Given the description of an element on the screen output the (x, y) to click on. 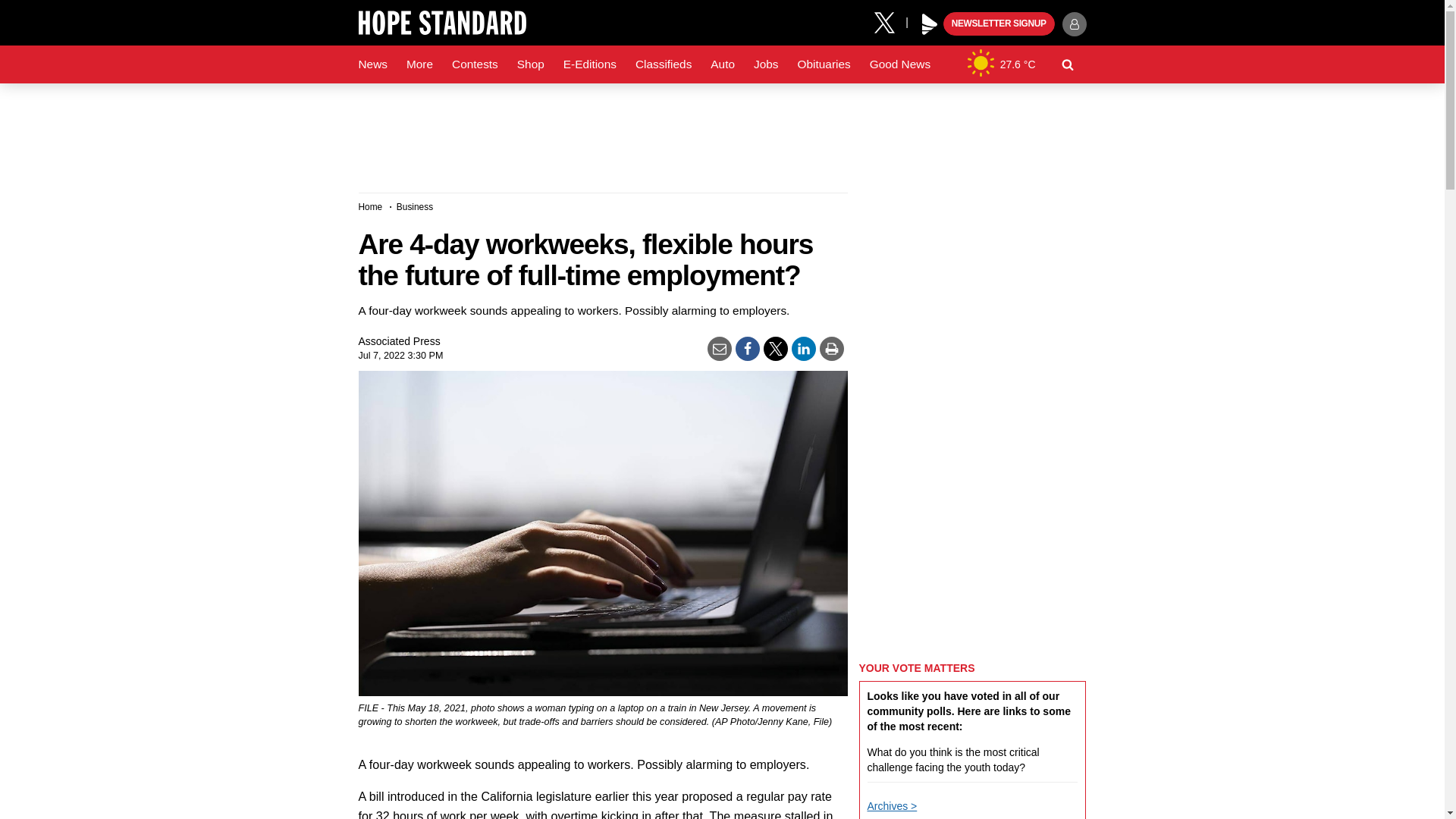
NEWSLETTER SIGNUP (998, 24)
Play (929, 24)
3rd party ad content (721, 131)
Black Press Media (929, 24)
X (889, 21)
News (372, 64)
